Given the description of an element on the screen output the (x, y) to click on. 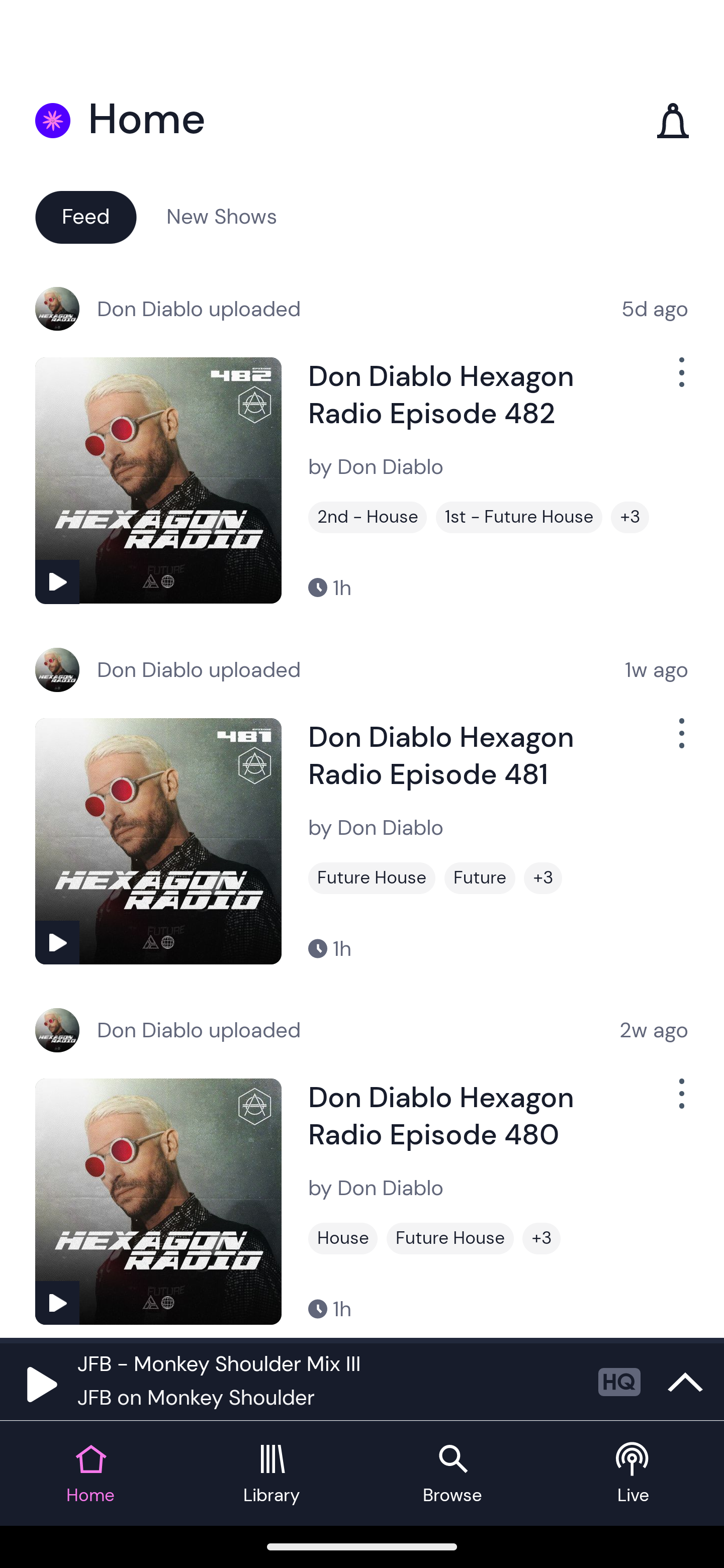
Feed (85, 216)
New Shows (221, 216)
Show Options Menu Button (679, 379)
2nd - House (367, 517)
1st - Future House (518, 517)
Show Options Menu Button (679, 740)
Future House (371, 877)
Future (479, 877)
Show Options Menu Button (679, 1101)
House (342, 1238)
Future House (450, 1238)
Home tab Home (90, 1473)
Library tab Library (271, 1473)
Browse tab Browse (452, 1473)
Live tab Live (633, 1473)
